Given the description of an element on the screen output the (x, y) to click on. 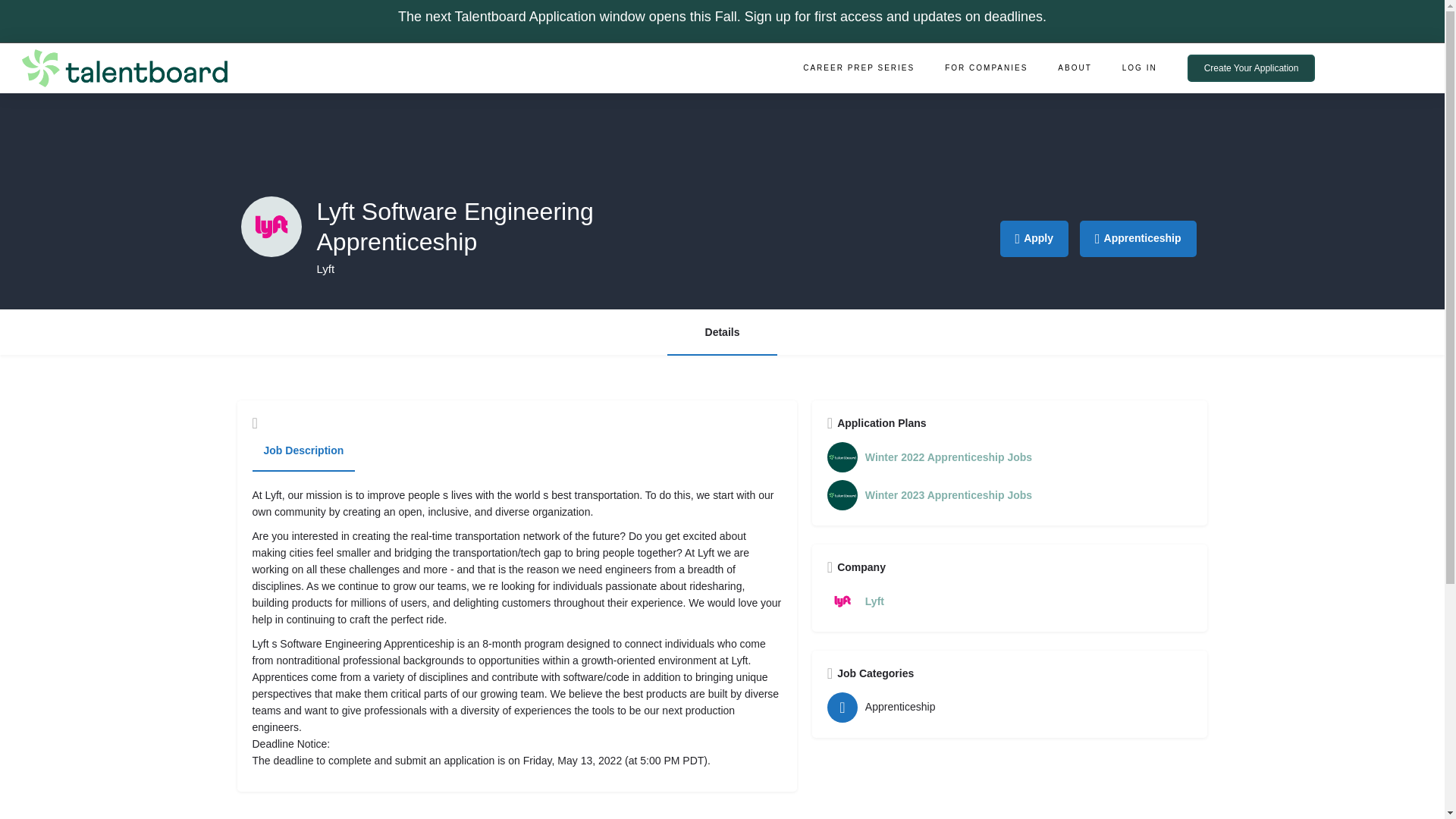
Job Description (303, 450)
Winter 2023 Apprenticeship Jobs (1009, 494)
Winter 2022 Apprenticeship Jobs (1009, 457)
Apprenticeship (1137, 238)
Details (721, 332)
Lyft (1009, 601)
FOR COMPANIES (986, 67)
Create Your Application (1252, 67)
CAREER PREP SERIES (858, 67)
Apply (1034, 238)
ABOUT (1074, 67)
LOG IN (1139, 67)
